Given the description of an element on the screen output the (x, y) to click on. 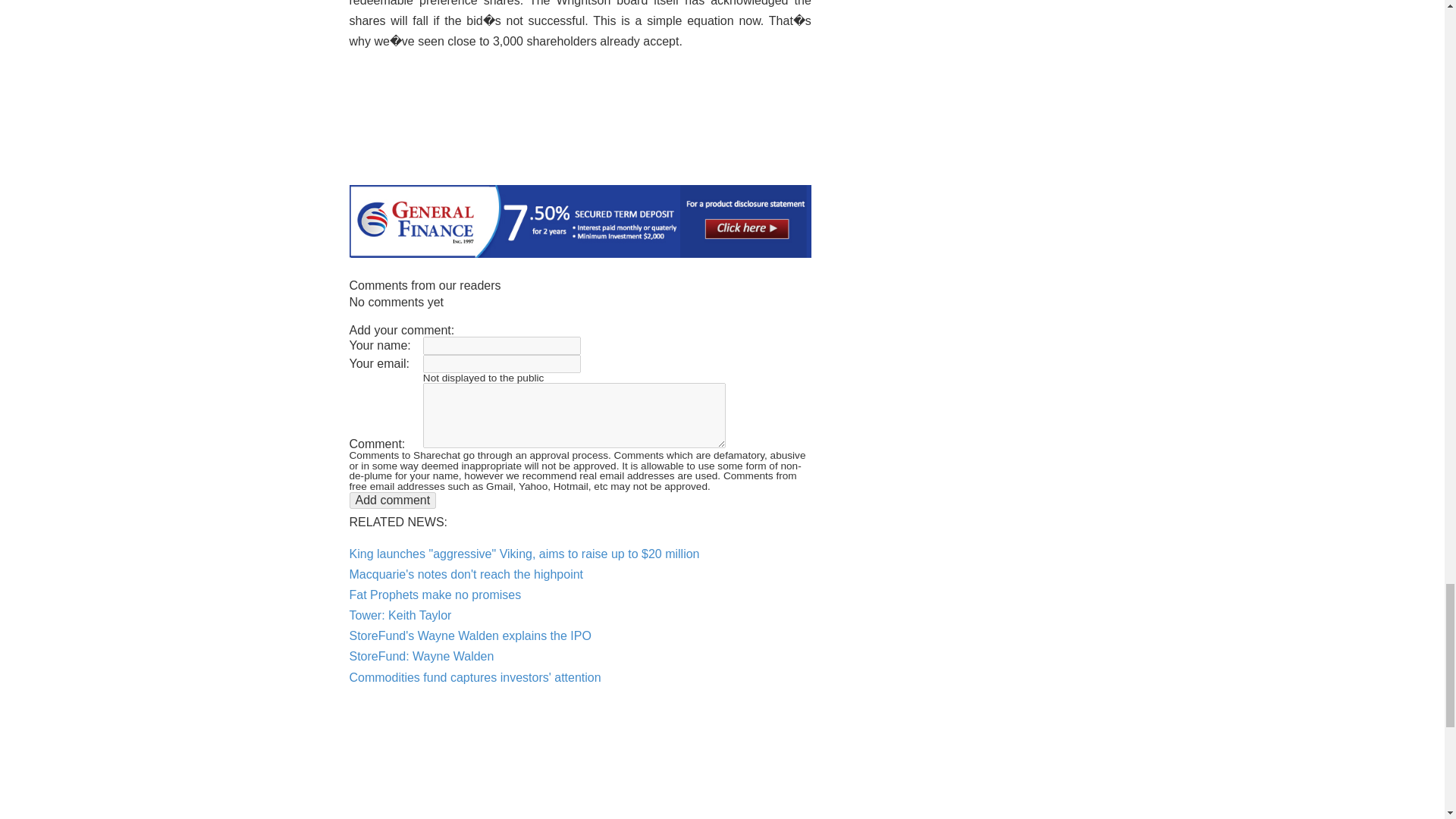
Add comment (392, 499)
